Given the description of an element on the screen output the (x, y) to click on. 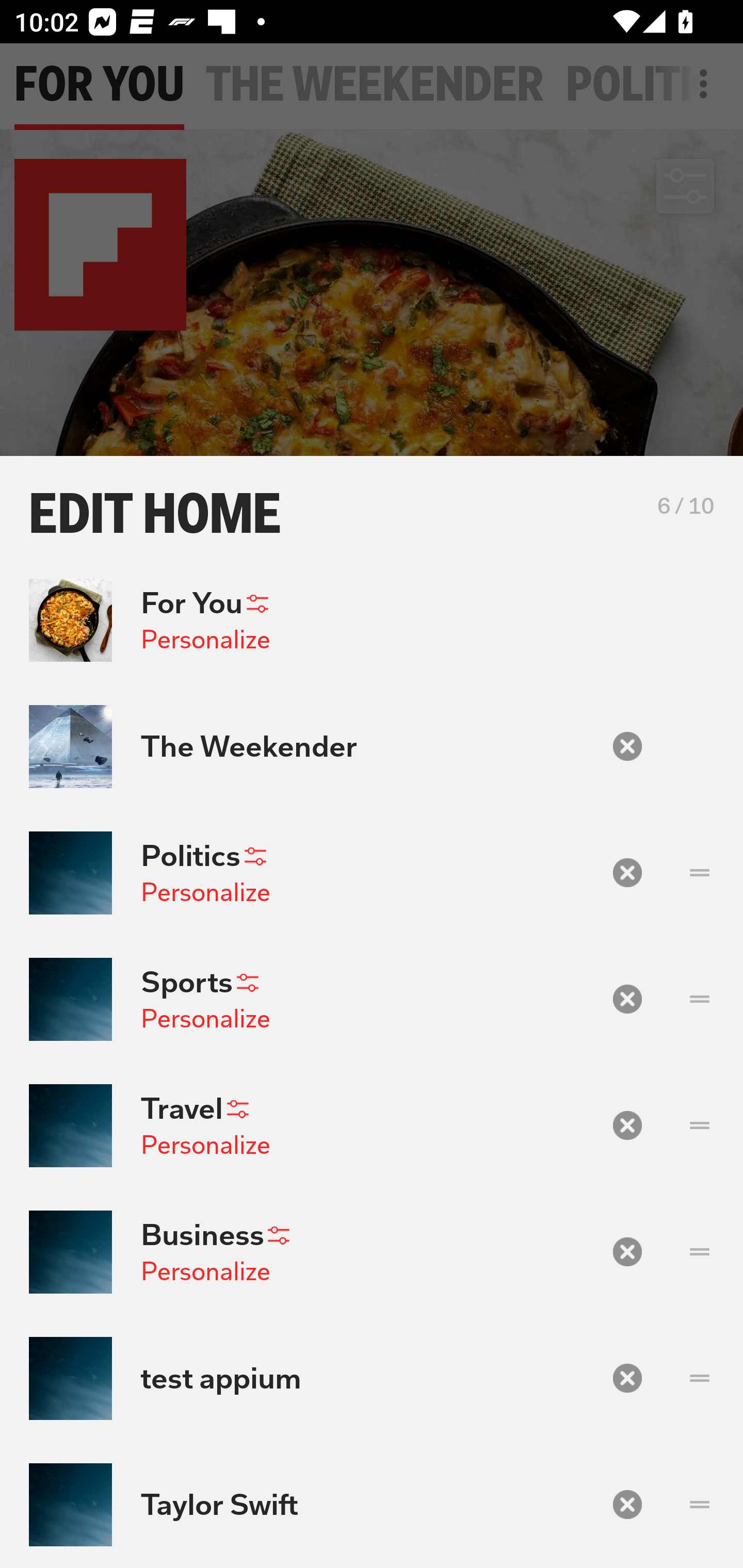
Personalize (205, 639)
Personalize (205, 891)
Personalize (205, 1018)
Personalize (205, 1144)
Personalize (205, 1271)
